Given the description of an element on the screen output the (x, y) to click on. 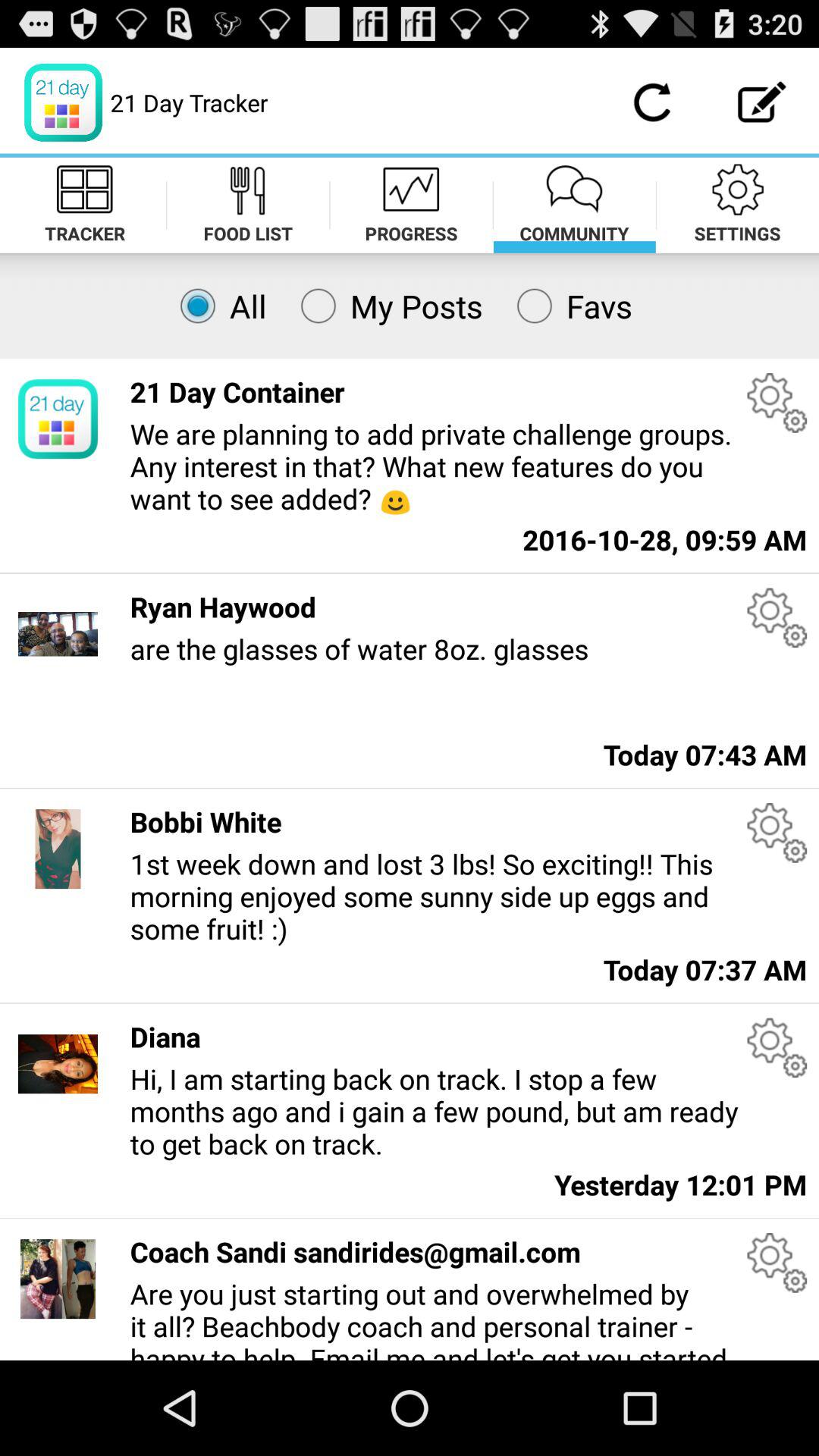
post settings (777, 832)
